Given the description of an element on the screen output the (x, y) to click on. 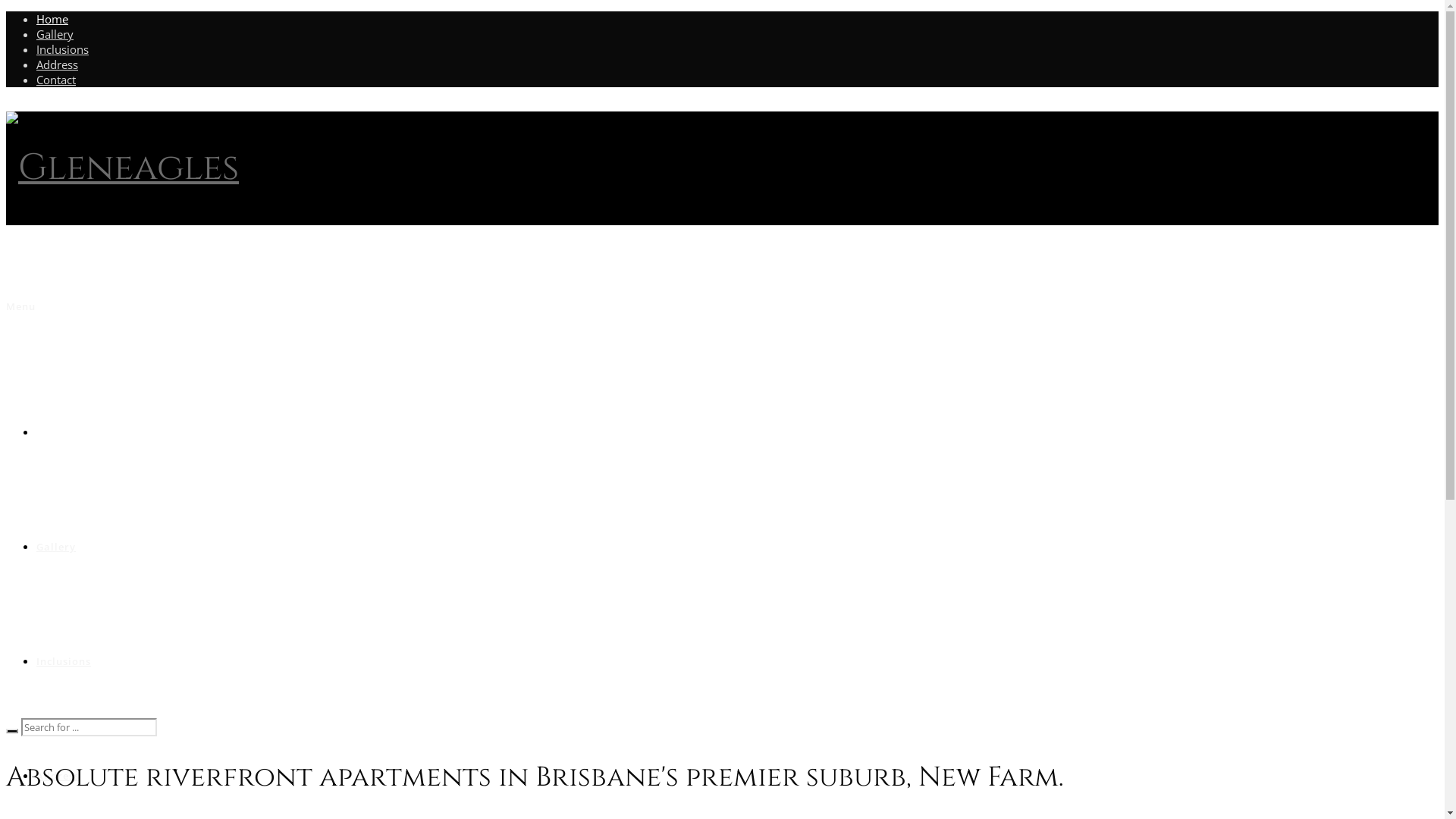
Home Element type: text (51, 432)
Address Element type: text (57, 64)
Gleneagles Element type: hover (122, 168)
Inclusions Element type: text (63, 661)
Gallery Element type: text (55, 546)
Address Element type: text (57, 775)
Contact Element type: text (55, 79)
Gallery Element type: text (54, 33)
Home Element type: text (52, 18)
Inclusions Element type: text (62, 48)
